Given the description of an element on the screen output the (x, y) to click on. 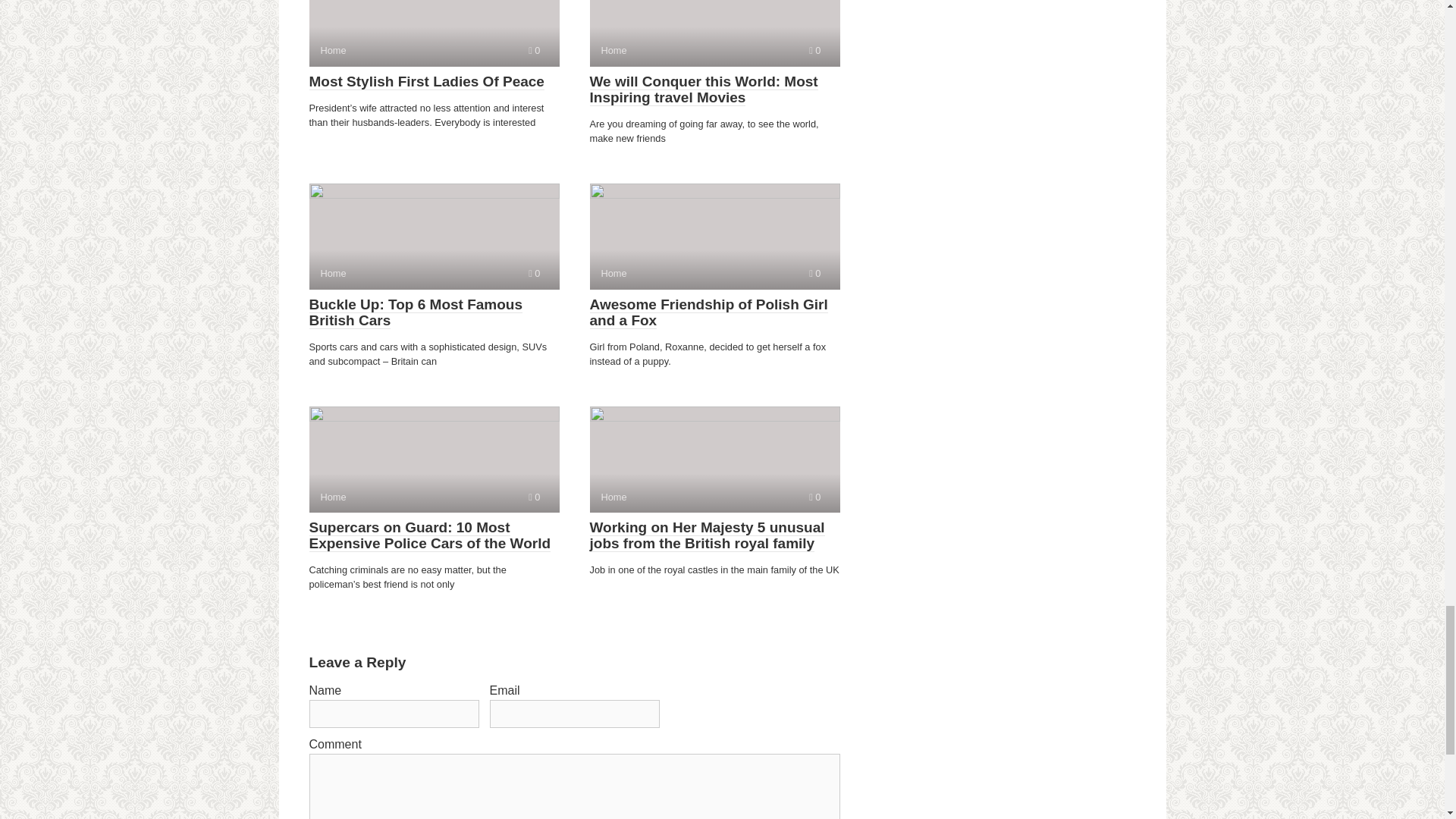
Most Stylish First Ladies Of Peace (426, 81)
Comments (433, 236)
Comments (534, 50)
Comments (433, 33)
We will Conquer this World: Most Inspiring travel Movies (534, 273)
